Given the description of an element on the screen output the (x, y) to click on. 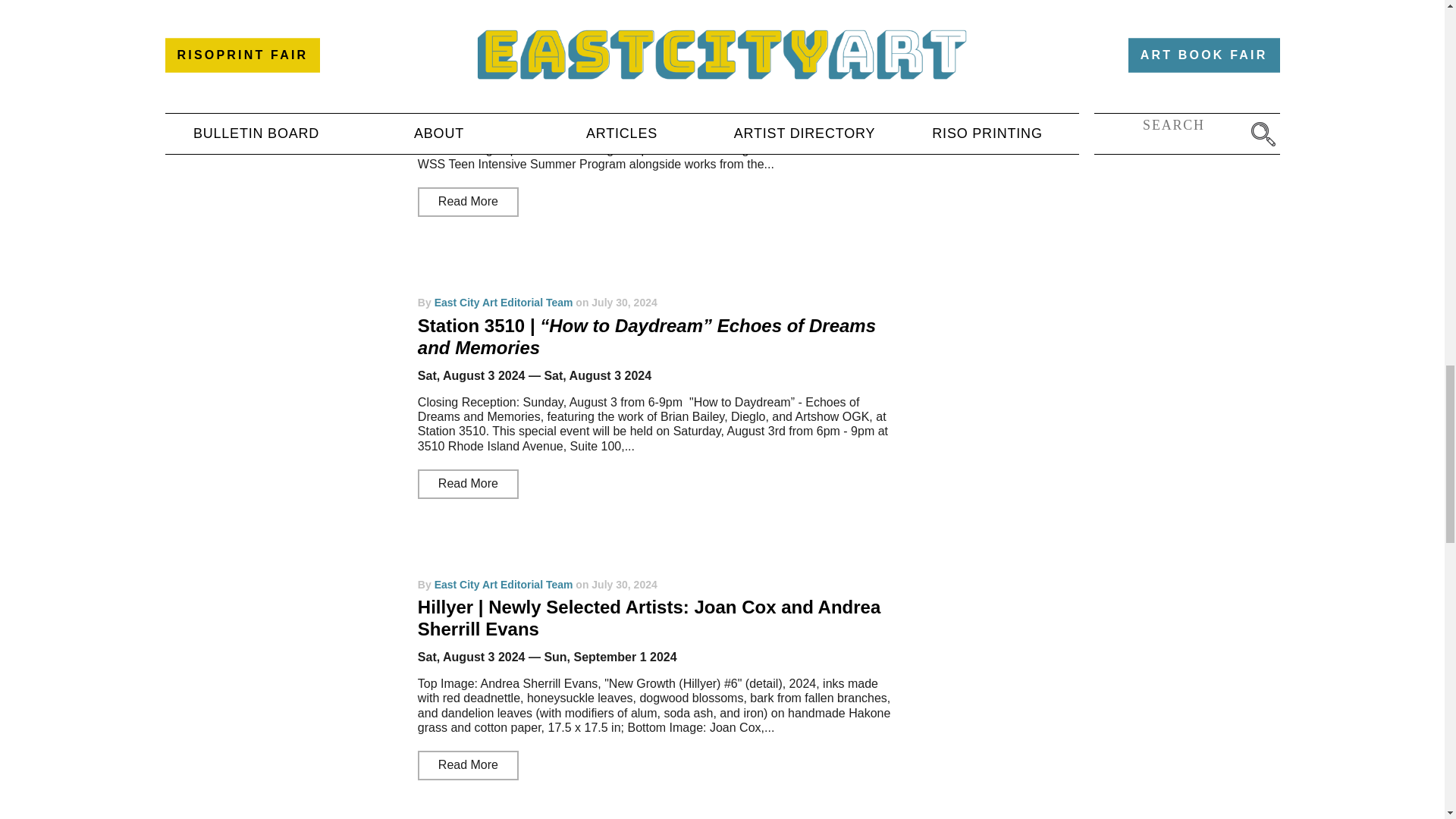
East City Art Editorial Team (503, 21)
Read More (467, 202)
